Given the description of an element on the screen output the (x, y) to click on. 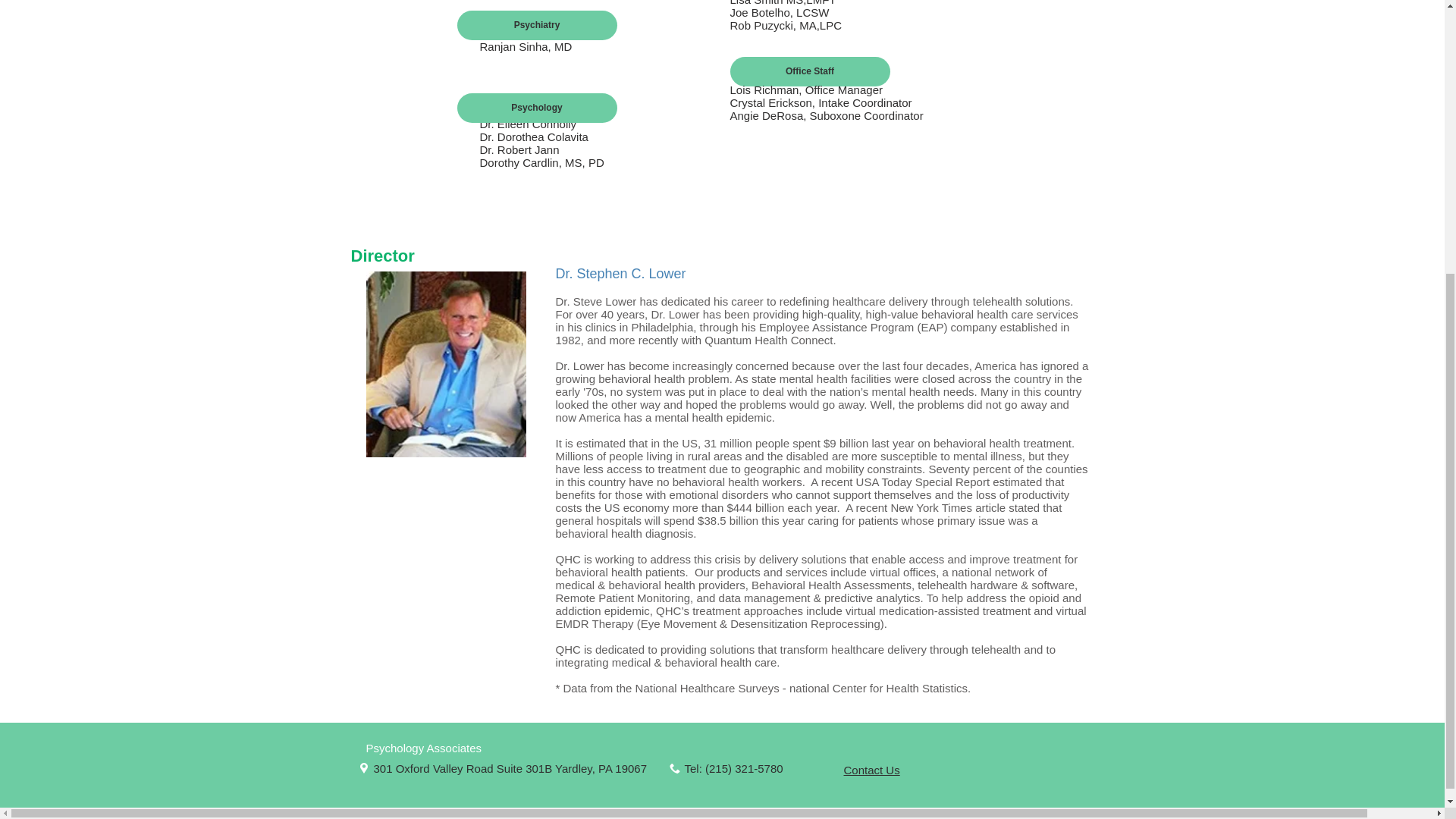
Psychology (536, 107)
Dr. Eileen Connolly (527, 123)
Ranjan Sinha, MD (525, 46)
Joe Botelho, LCSW (778, 11)
Dr. Robert Jann (519, 149)
Dr. Dorothea Colavita (533, 136)
Psychiatry (536, 25)
Office Staff (809, 71)
Lisa Smith MS,LMFT (782, 2)
Rob Puzycki, MA,LPC (785, 24)
Contact Us (871, 770)
Dorothy Cardlin, MS, PD (541, 162)
